Given the description of an element on the screen output the (x, y) to click on. 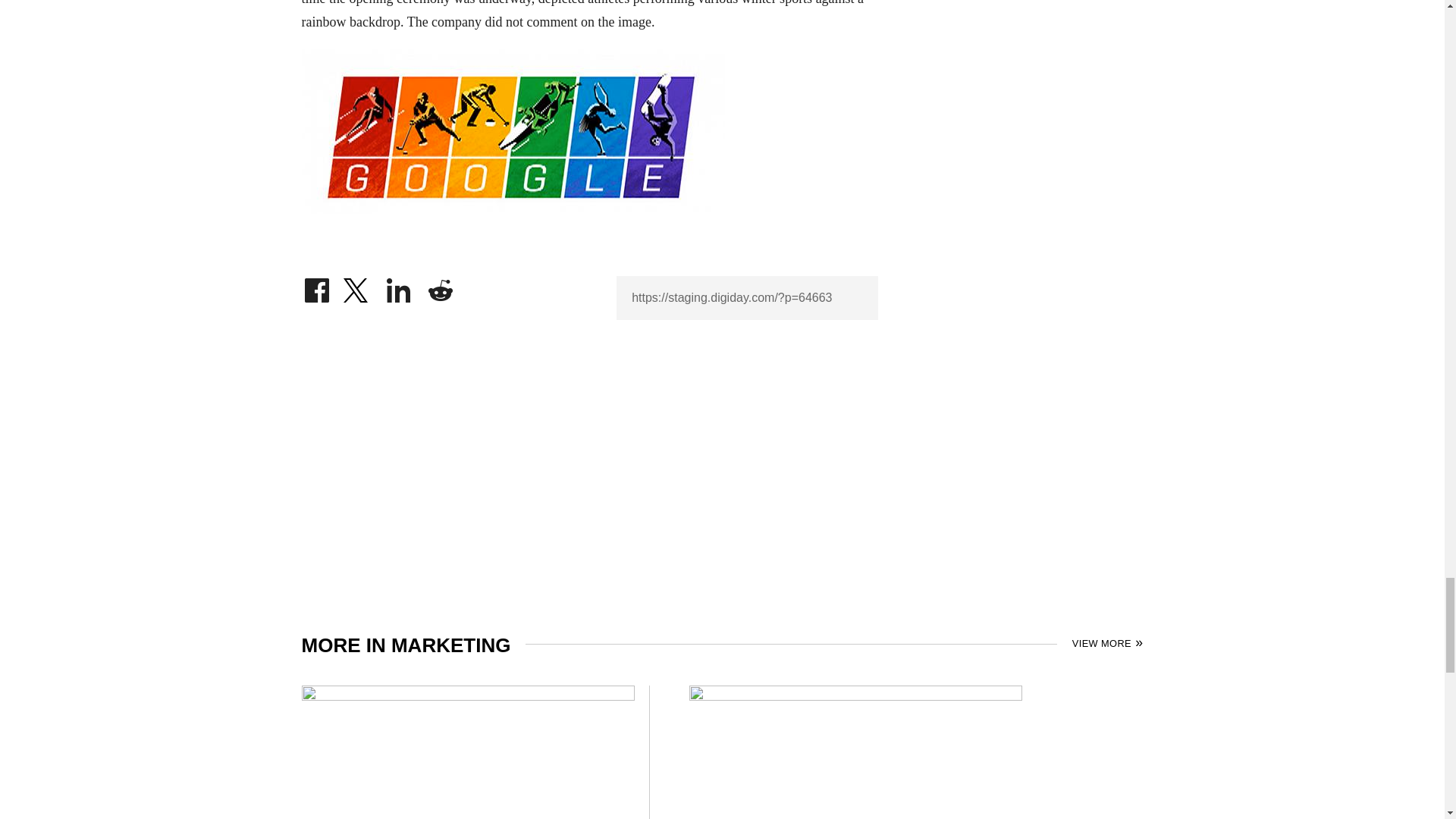
Share on Reddit (440, 286)
Share on Facebook (316, 286)
Share on LinkedIn (398, 286)
Share on Twitter (357, 286)
